Given the description of an element on the screen output the (x, y) to click on. 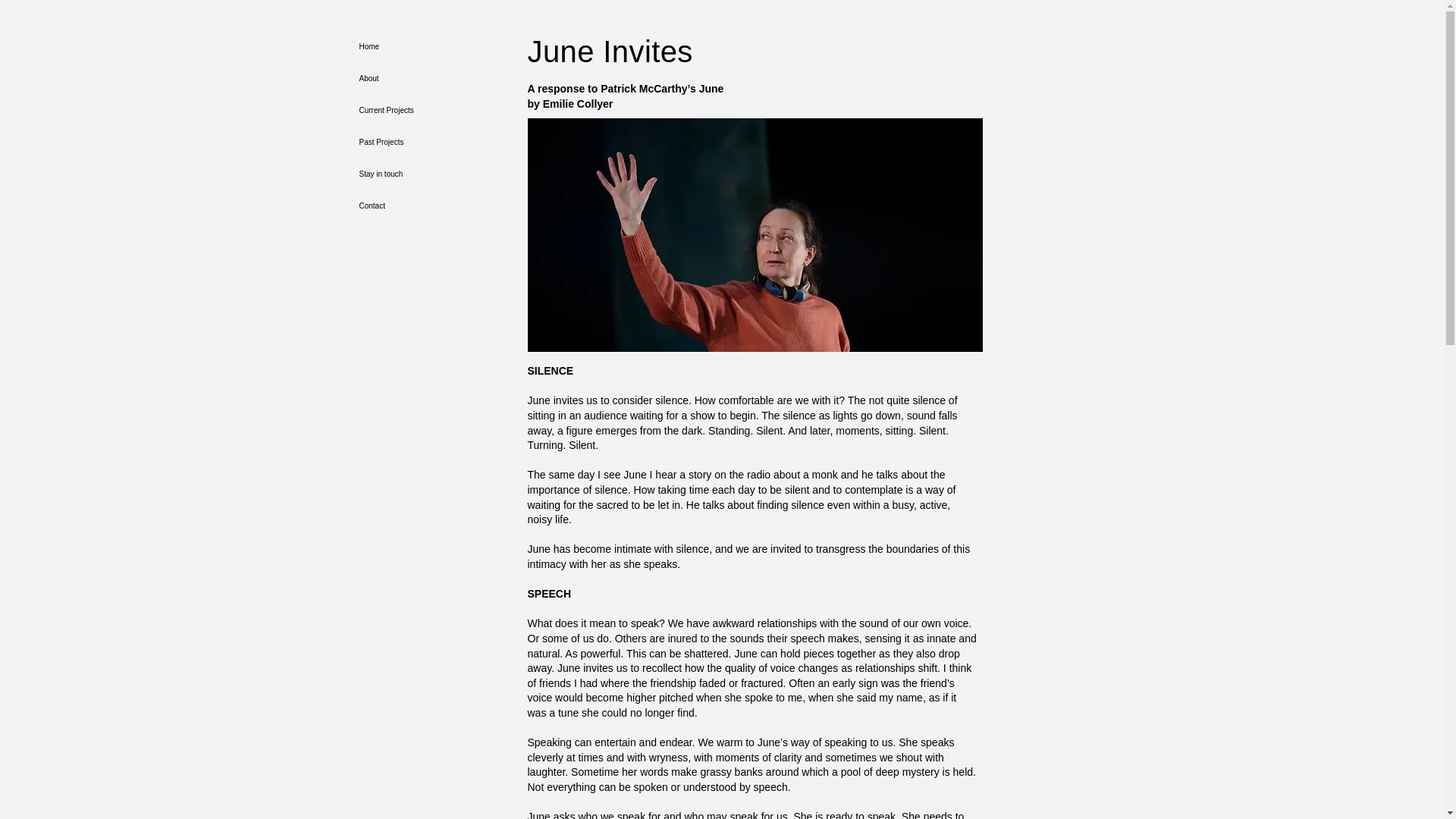
Home (432, 47)
Contact (432, 205)
Stay in touch (432, 174)
About (432, 79)
Past Projects (432, 142)
Current Projects (432, 110)
